Given the description of an element on the screen output the (x, y) to click on. 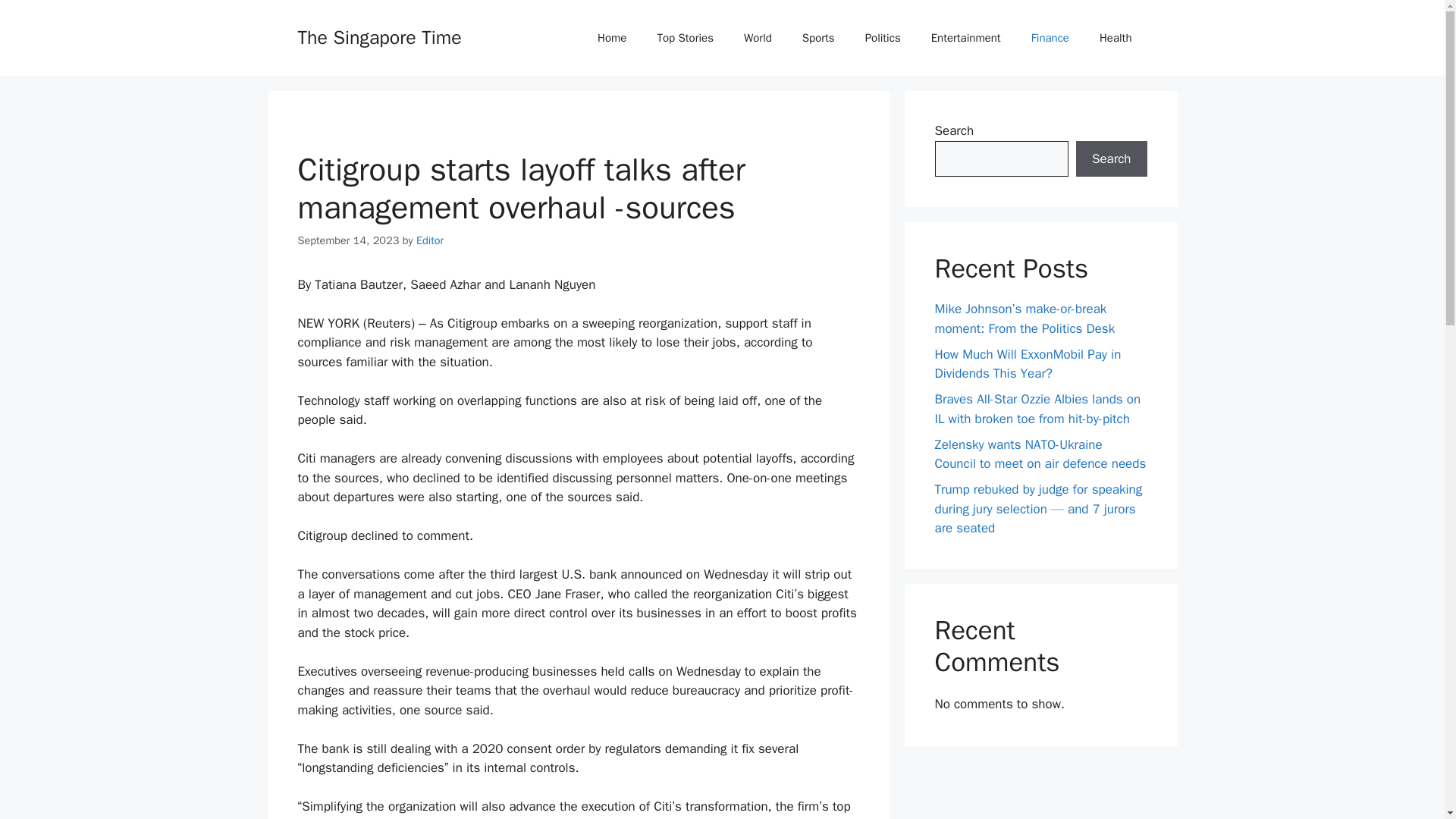
Top Stories (685, 37)
The Singapore Time (379, 37)
Politics (882, 37)
Editor (430, 240)
View all posts by Editor (430, 240)
How Much Will ExxonMobil Pay in Dividends This Year? (1027, 363)
Home (612, 37)
Finance (1050, 37)
Search (1111, 158)
Entertainment (965, 37)
World (758, 37)
Sports (818, 37)
Health (1115, 37)
